Given the description of an element on the screen output the (x, y) to click on. 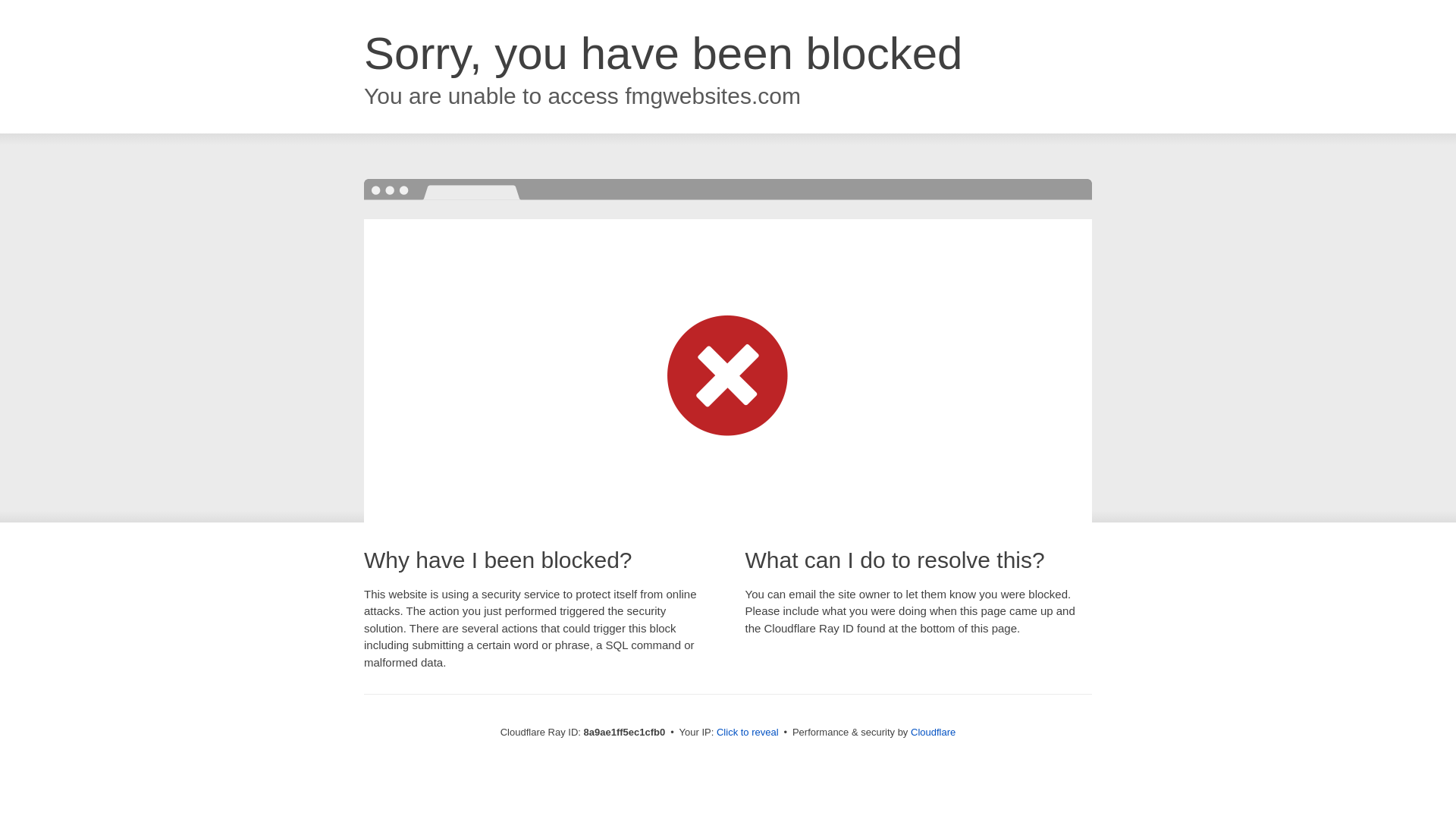
Cloudflare (933, 731)
Click to reveal (747, 732)
